Given the description of an element on the screen output the (x, y) to click on. 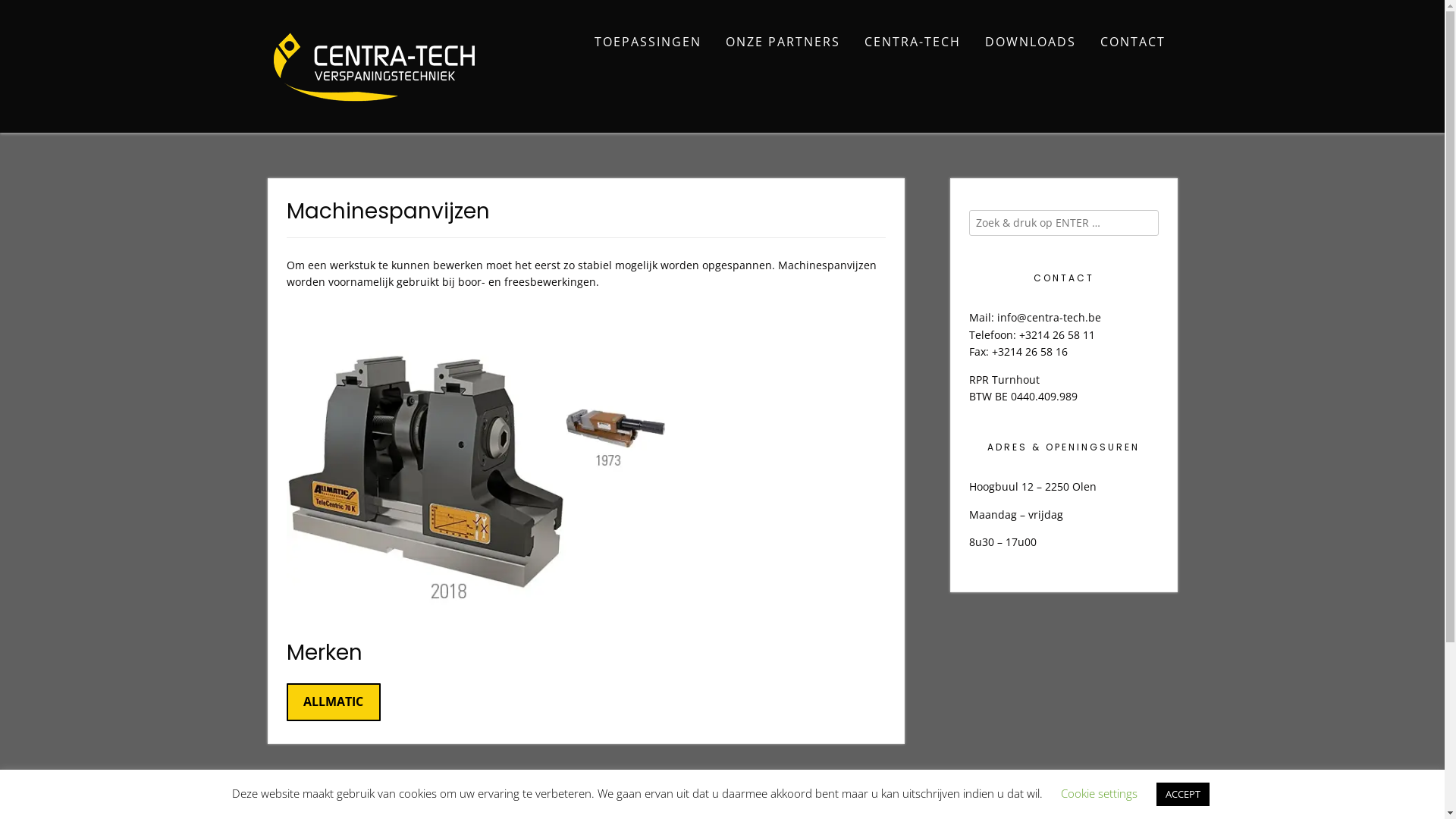
CONTACT Element type: text (1131, 43)
CENTRA-TECH Element type: text (912, 43)
ALLMATIC Element type: text (333, 702)
TOEPASSINGEN Element type: text (647, 43)
DOWNLOADS Element type: text (1029, 43)
info@centra-tech.be Element type: text (1048, 317)
Cookie settings Element type: text (1098, 792)
ACCEPT Element type: text (1181, 794)
ONZE PARTNERS Element type: text (781, 43)
